Given the description of an element on the screen output the (x, y) to click on. 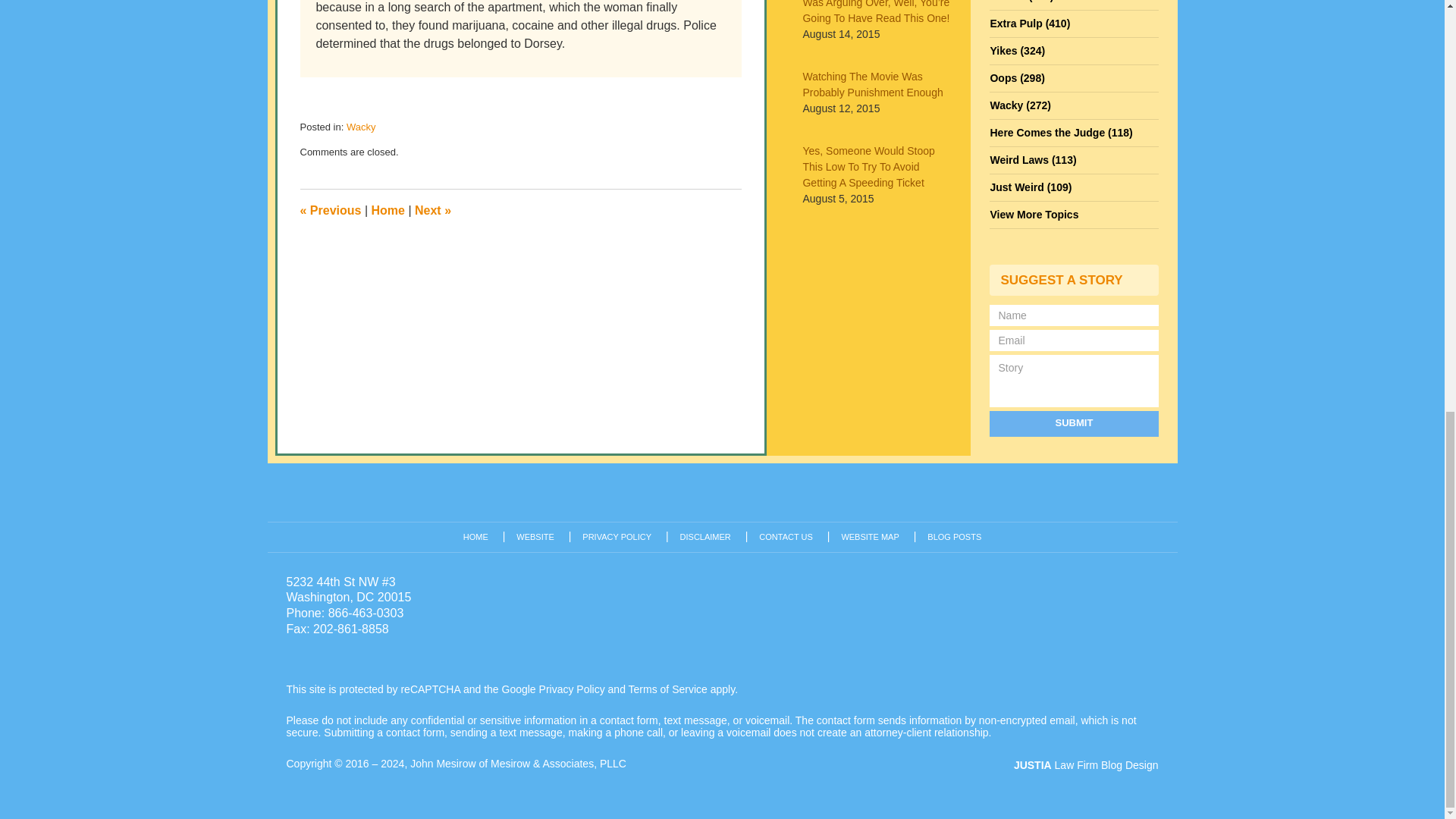
Wacky (360, 126)
View all posts in Wacky (360, 126)
Home (387, 210)
Watching The Movie Was Probably Punishment Enough (877, 84)
